Given the description of an element on the screen output the (x, y) to click on. 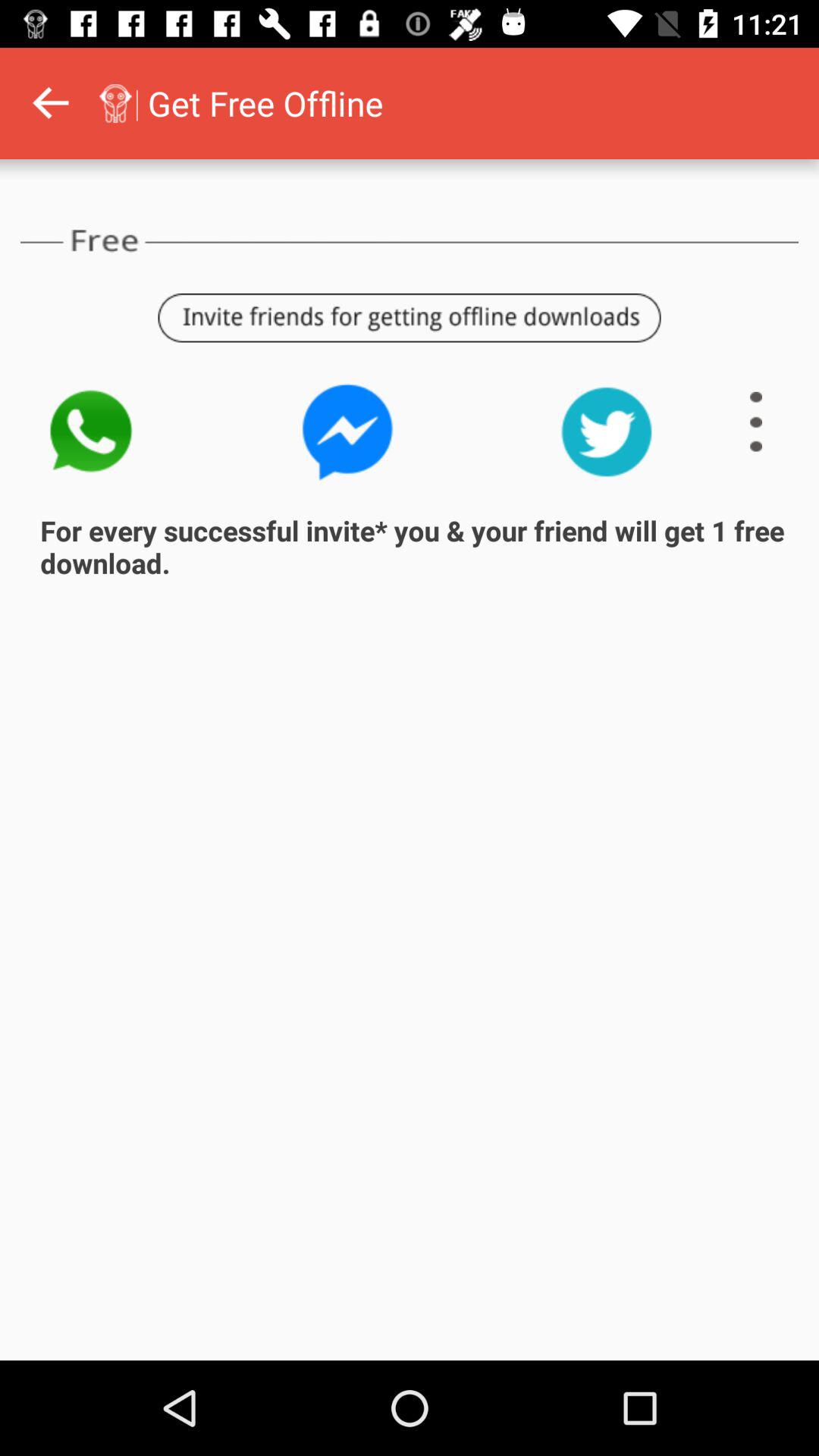
open twitter (606, 431)
